Given the description of an element on the screen output the (x, y) to click on. 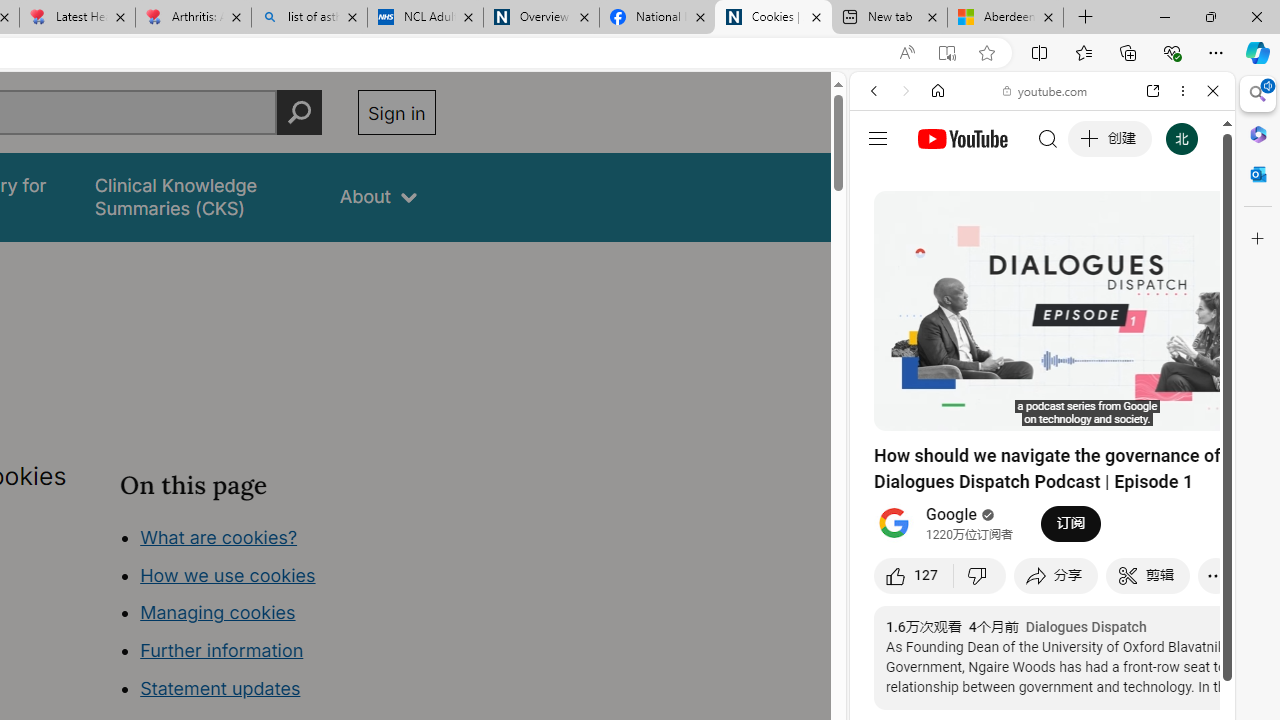
Cookies | About | NICE (772, 17)
Music (1042, 543)
Show More Music (1164, 546)
What are cookies? (218, 536)
